Given the description of an element on the screen output the (x, y) to click on. 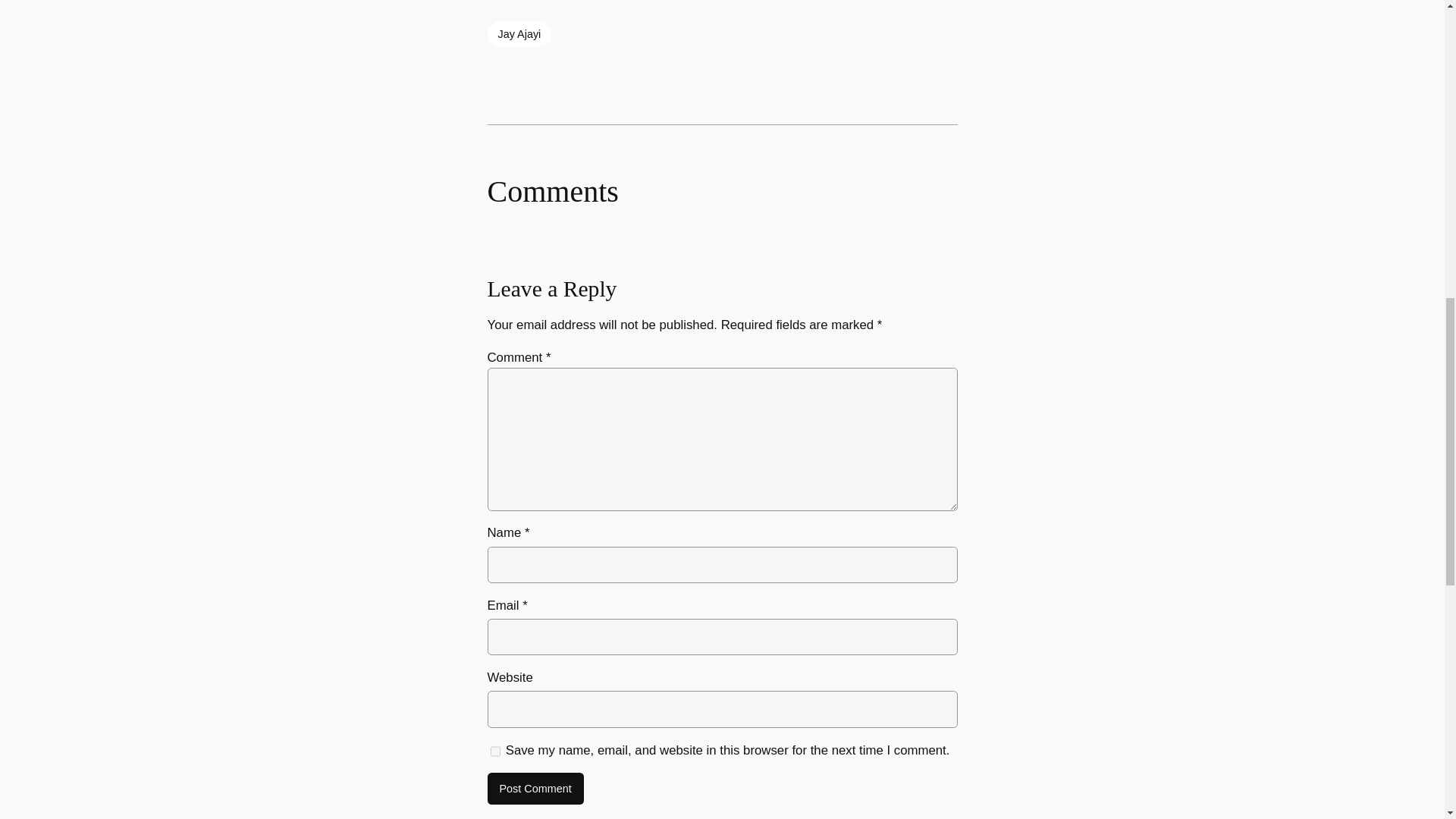
Post Comment (534, 788)
